Given the description of an element on the screen output the (x, y) to click on. 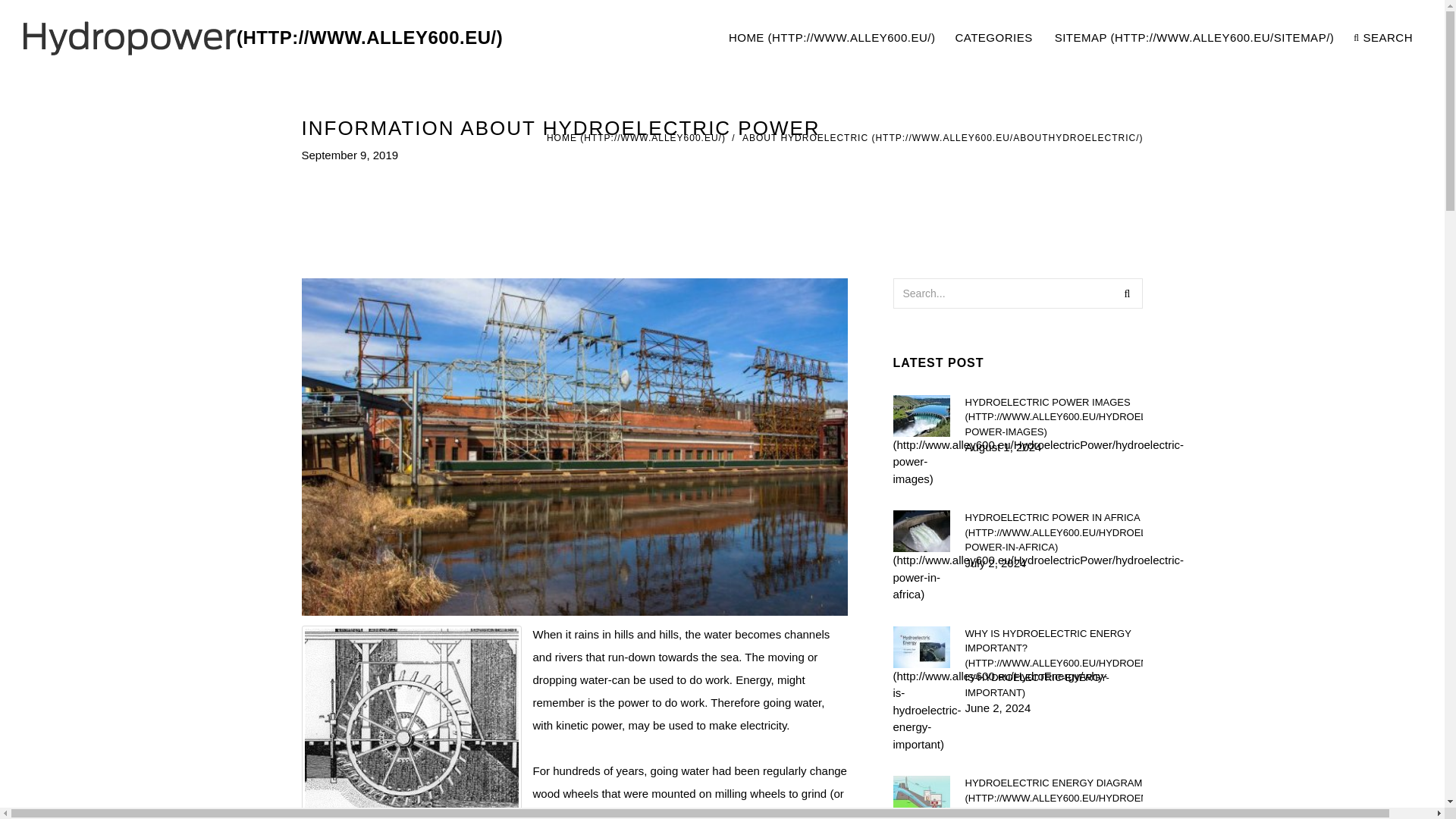
ABOUT HYDROELECTRIC (942, 137)
HOME (636, 137)
SEARCH (1382, 38)
Search (1126, 292)
HOME (831, 38)
HYDROELECTRIC POWER IMAGES (1052, 415)
CATEGORIES (993, 38)
Hydropower (262, 38)
HYDROELECTRIC POWER IN AFRICA (1052, 532)
SITEMAP (1194, 38)
HYDROELECTRIC ENERGY DIAGRAM (1052, 797)
WHY IS HYDROELECTRIC ENERGY IMPORTANT? (1069, 38)
